Given the description of an element on the screen output the (x, y) to click on. 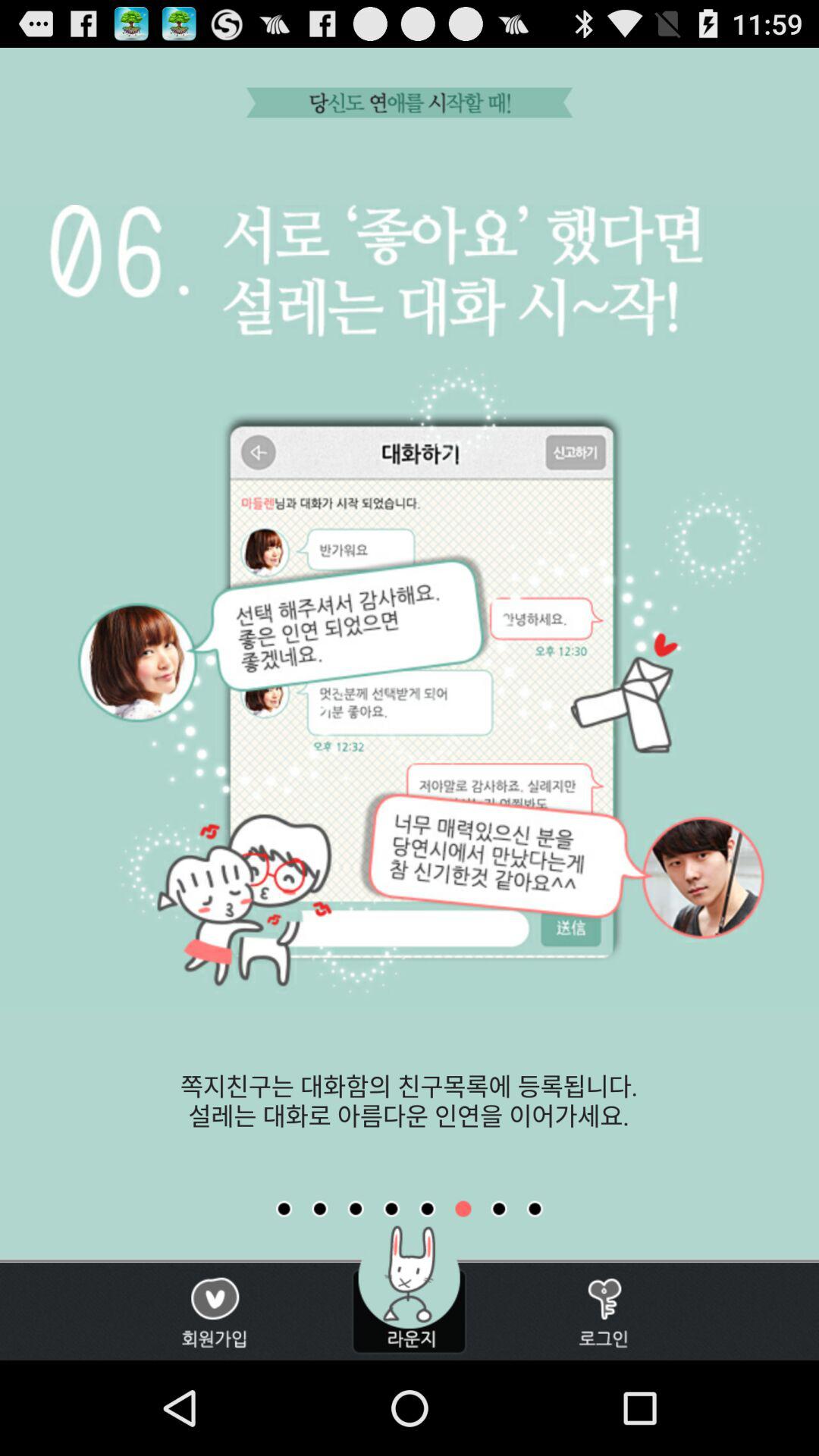
change page (391, 1208)
